Given the description of an element on the screen output the (x, y) to click on. 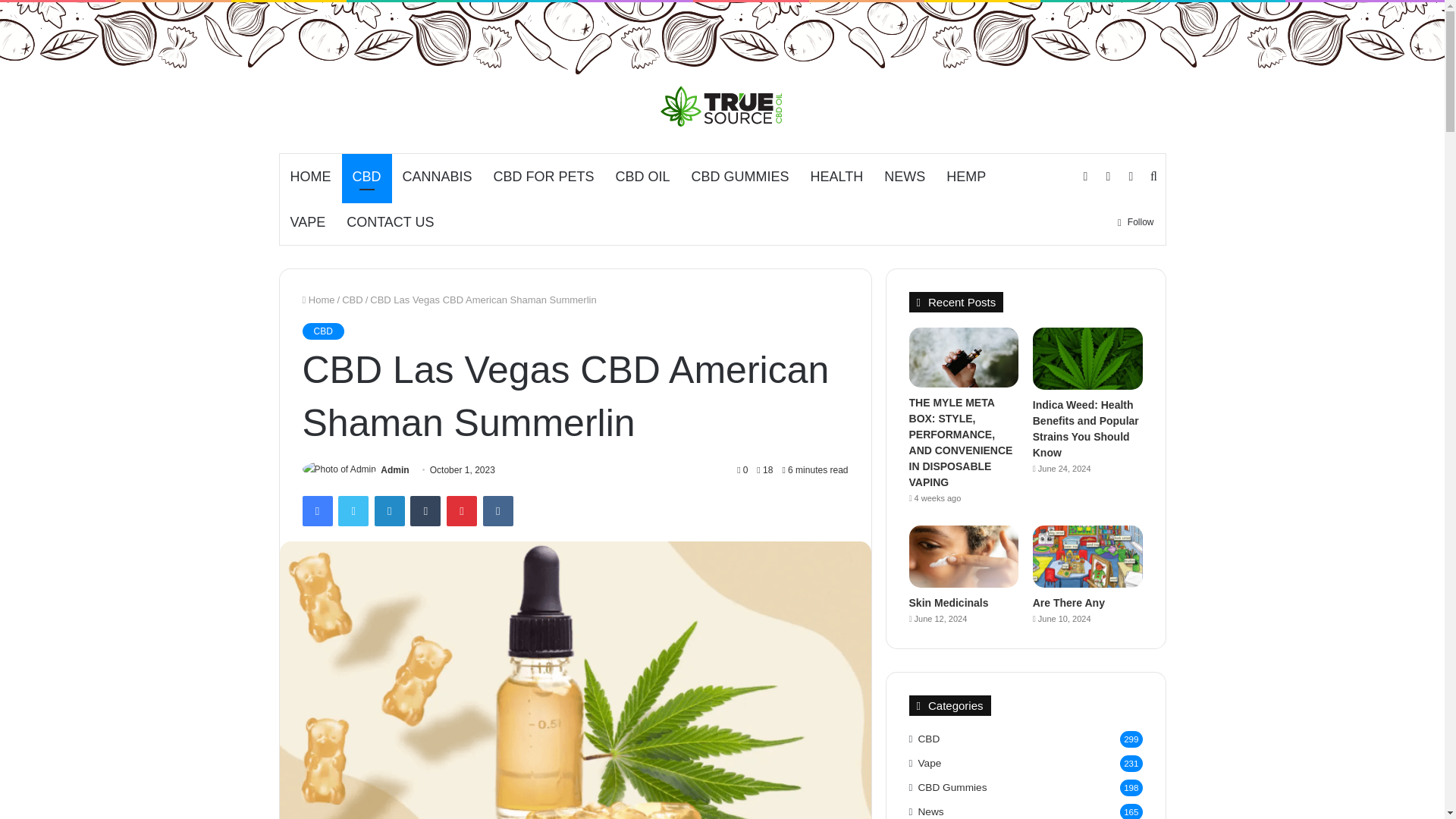
Twitter (352, 511)
CBD (365, 176)
HEMP (965, 176)
VAPE (307, 221)
CBD (352, 299)
NEWS (904, 176)
Home (317, 299)
Admin (394, 470)
CBD FOR PETS (544, 176)
CONTACT US (390, 221)
